Given the description of an element on the screen output the (x, y) to click on. 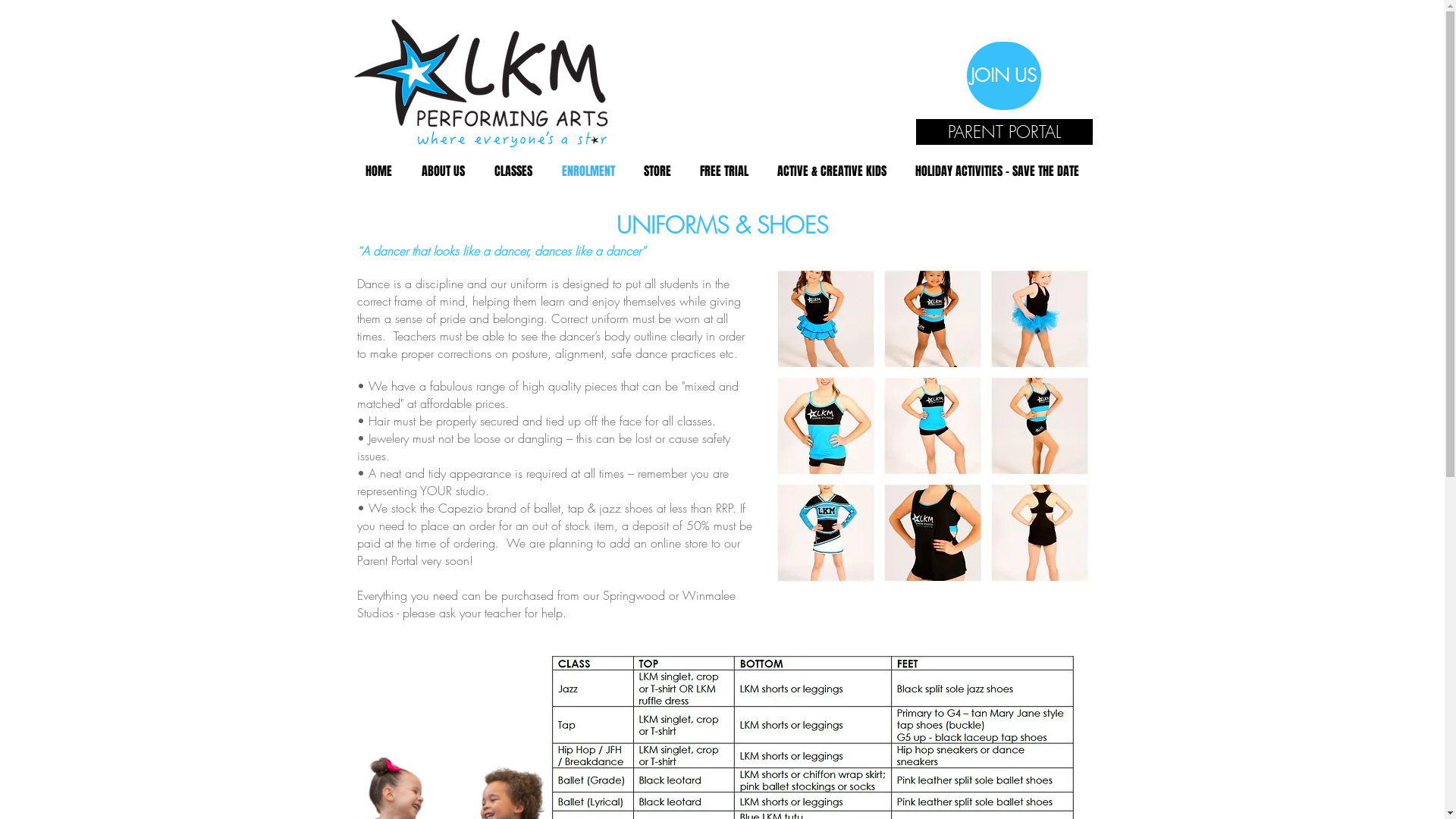
ACTIVE & CREATIVE KIDS Element type: text (831, 171)
HOME Element type: text (378, 171)
HOLIDAY ACTIVITIES - SAVE THE DATE Element type: text (996, 171)
ABOUT US Element type: text (442, 171)
STORE Element type: text (657, 171)
JOIN US Element type: text (1003, 75)
FREE TRIAL Element type: text (723, 171)
ENROLMENT Element type: text (588, 171)
CLASSES Element type: text (512, 171)
PARENT PORTAL Element type: text (1004, 131)
